Given the description of an element on the screen output the (x, y) to click on. 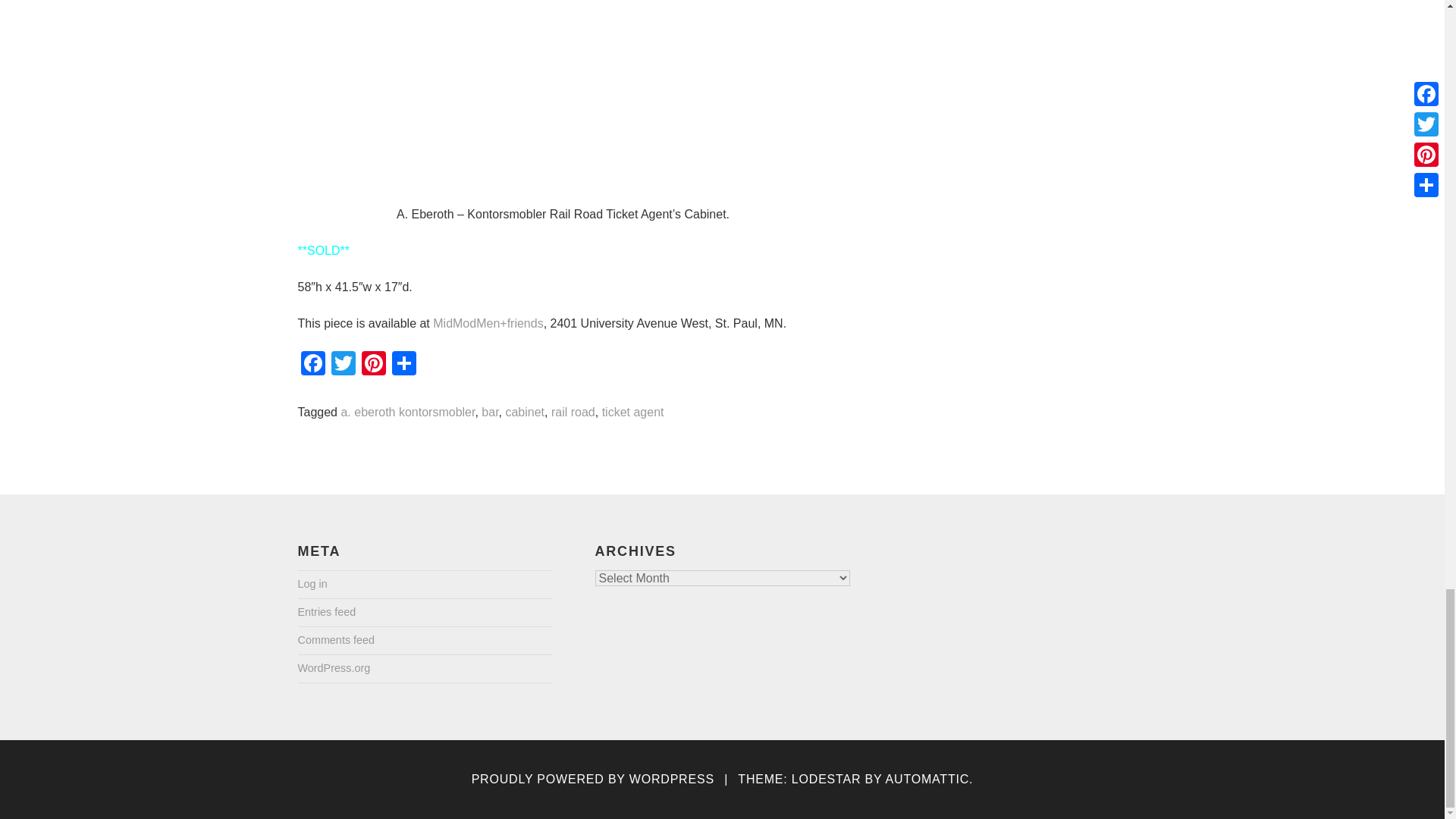
Twitter (342, 365)
a. eberoth kontorsmobler (407, 412)
Facebook (312, 365)
Entries feed (326, 612)
Facebook (312, 365)
rail road (573, 412)
WordPress.org (333, 668)
cabinet (524, 412)
Comments feed (335, 640)
bar (489, 412)
